Given the description of an element on the screen output the (x, y) to click on. 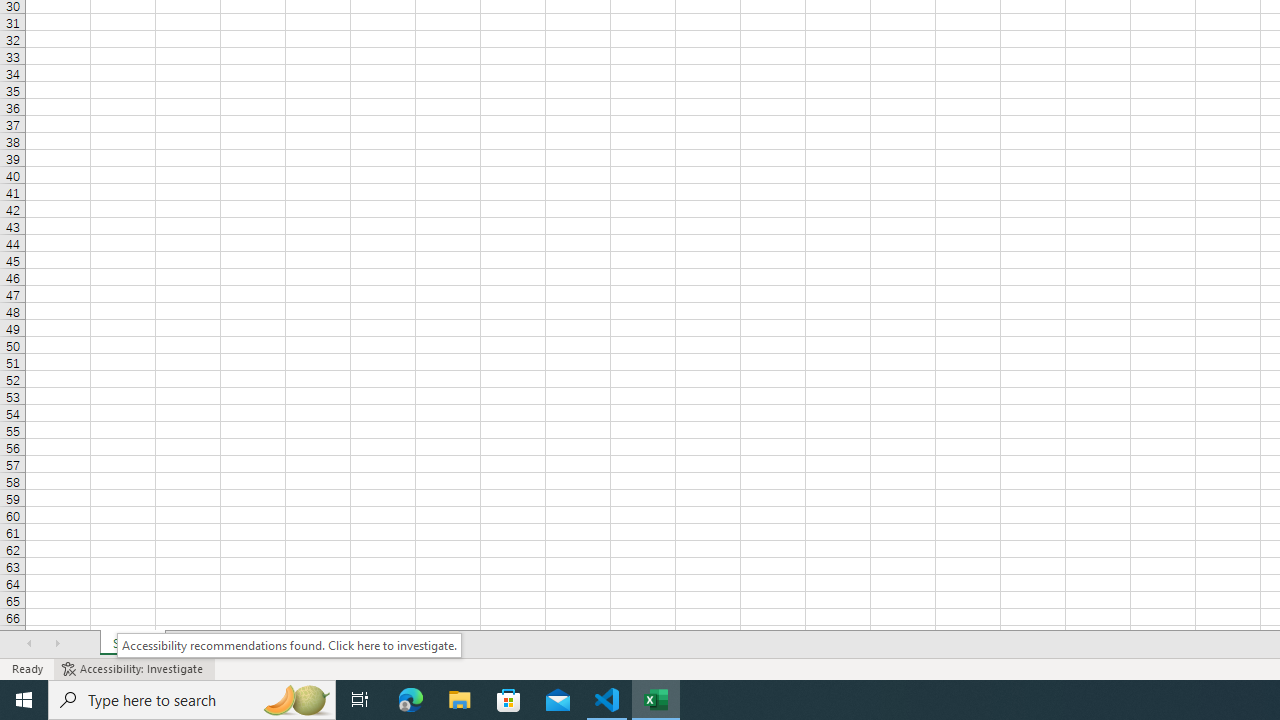
Accessibility Checker Accessibility: Investigate (134, 668)
Sheet2 (197, 644)
